Given the description of an element on the screen output the (x, y) to click on. 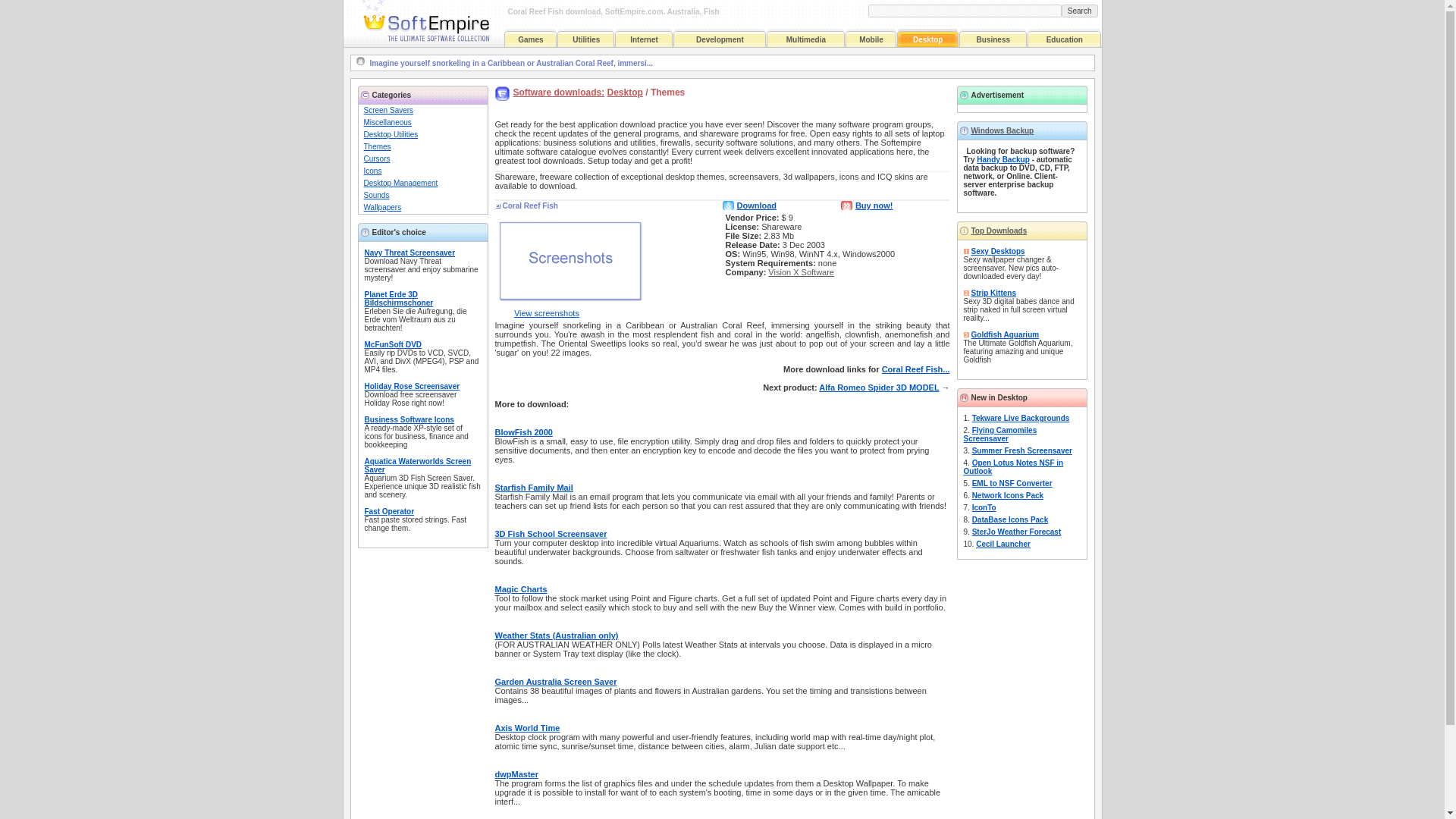
Miscellaneous (388, 121)
Games (530, 40)
Education (1064, 40)
Vision X Software (801, 271)
desktop management software downloads (401, 183)
View screenshots (546, 312)
Alfa Romeo Spider 3D MODEL (878, 387)
Wallpapers Software Download, christmas walpaper (382, 207)
Search (1079, 10)
